Given the description of an element on the screen output the (x, y) to click on. 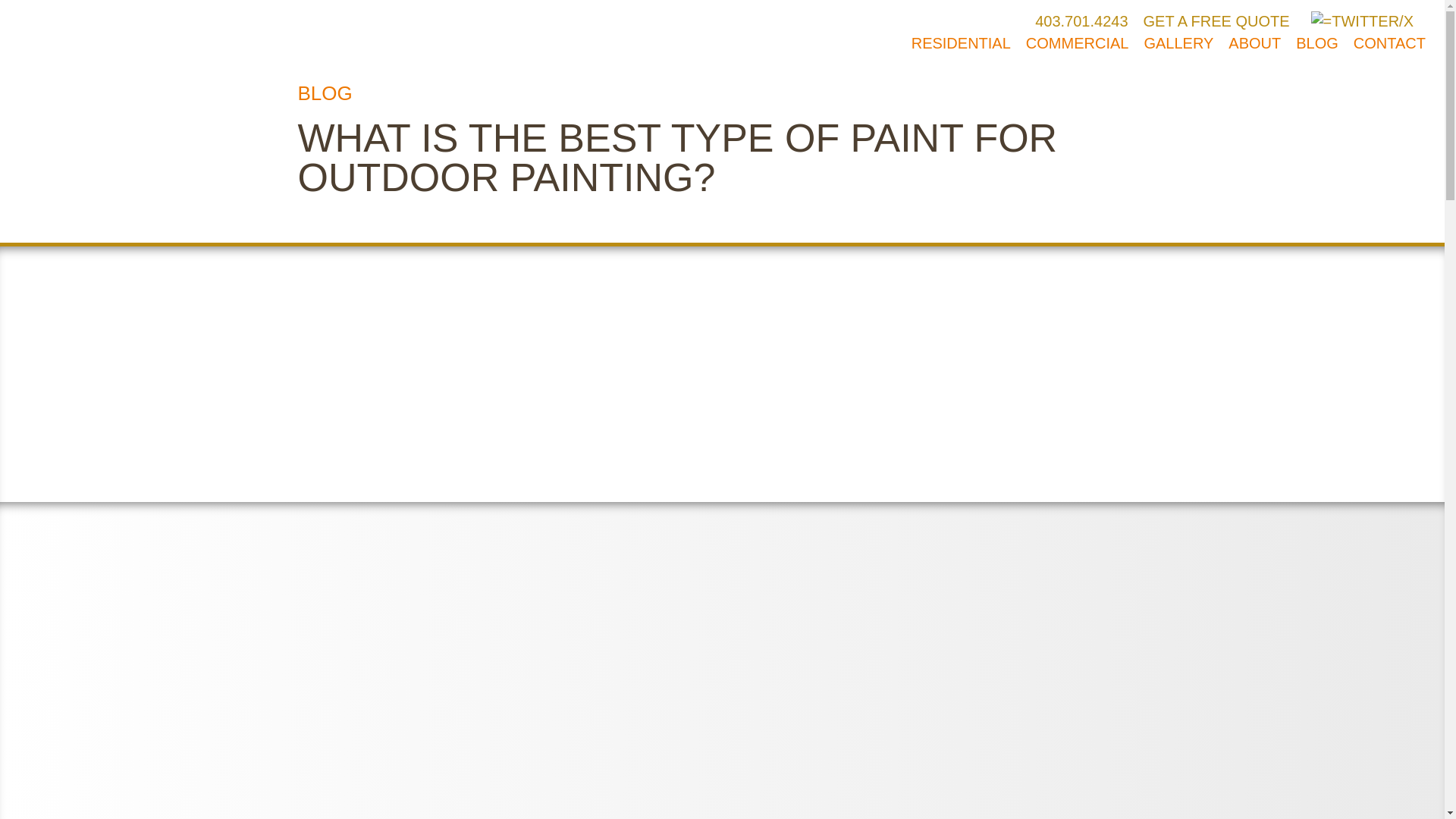
COMMERCIAL (1077, 43)
BLOG (324, 93)
GET A FREE QUOTE (1216, 22)
RESIDENTIAL (960, 43)
GALLERY (1177, 44)
ABOUT (1254, 43)
CONTACT (1389, 44)
BLOG (1316, 44)
403.701.4243 (1080, 22)
